Given the description of an element on the screen output the (x, y) to click on. 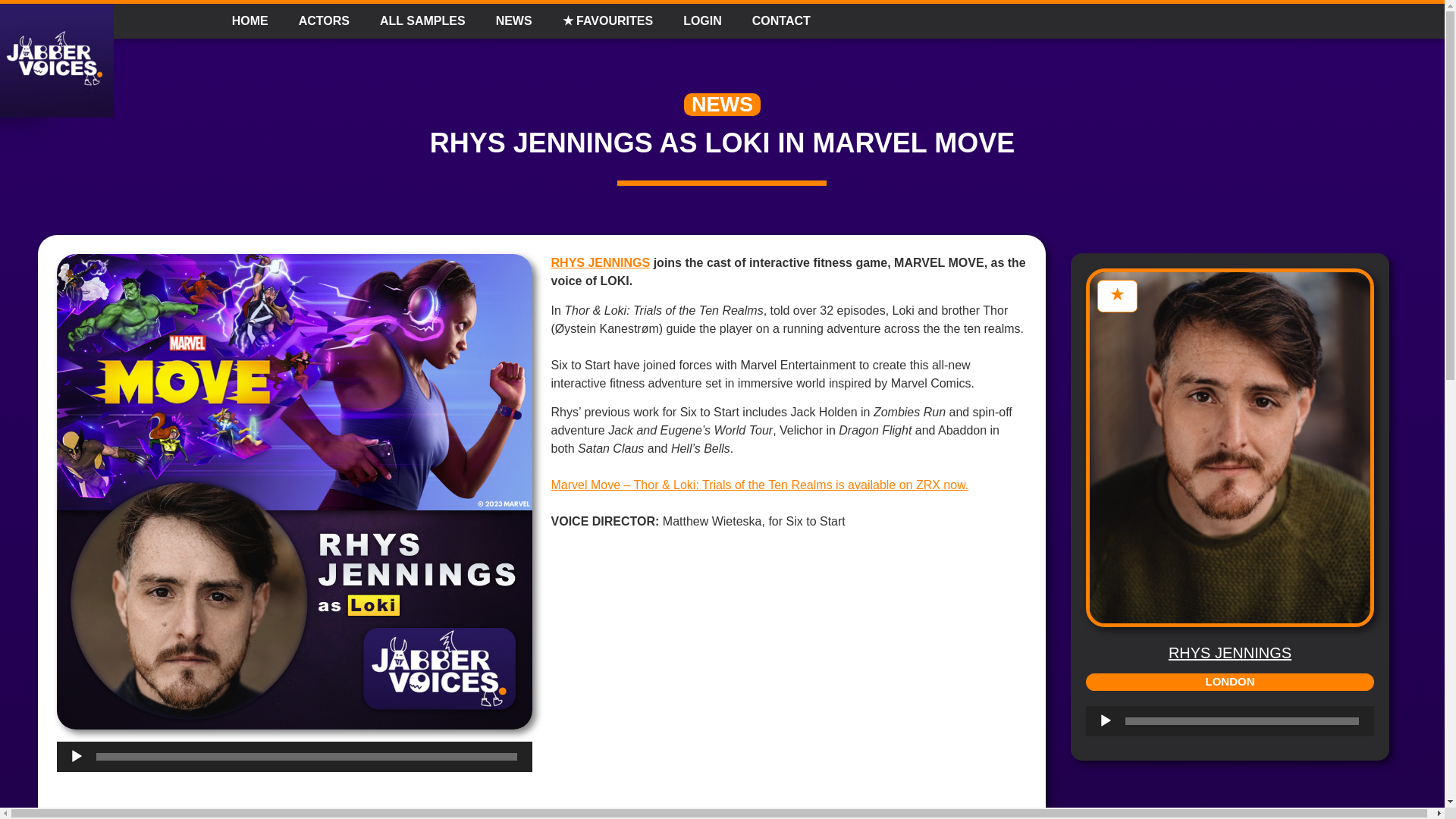
ACTORS (324, 21)
CONTACT (780, 21)
ALL SAMPLES (422, 21)
Play (75, 756)
LOGIN (702, 21)
NEWS (721, 104)
RHYS JENNINGS (1230, 652)
HOME (249, 21)
RHYS JENNINGS (600, 262)
NEWS (513, 21)
Play (1105, 720)
